Given the description of an element on the screen output the (x, y) to click on. 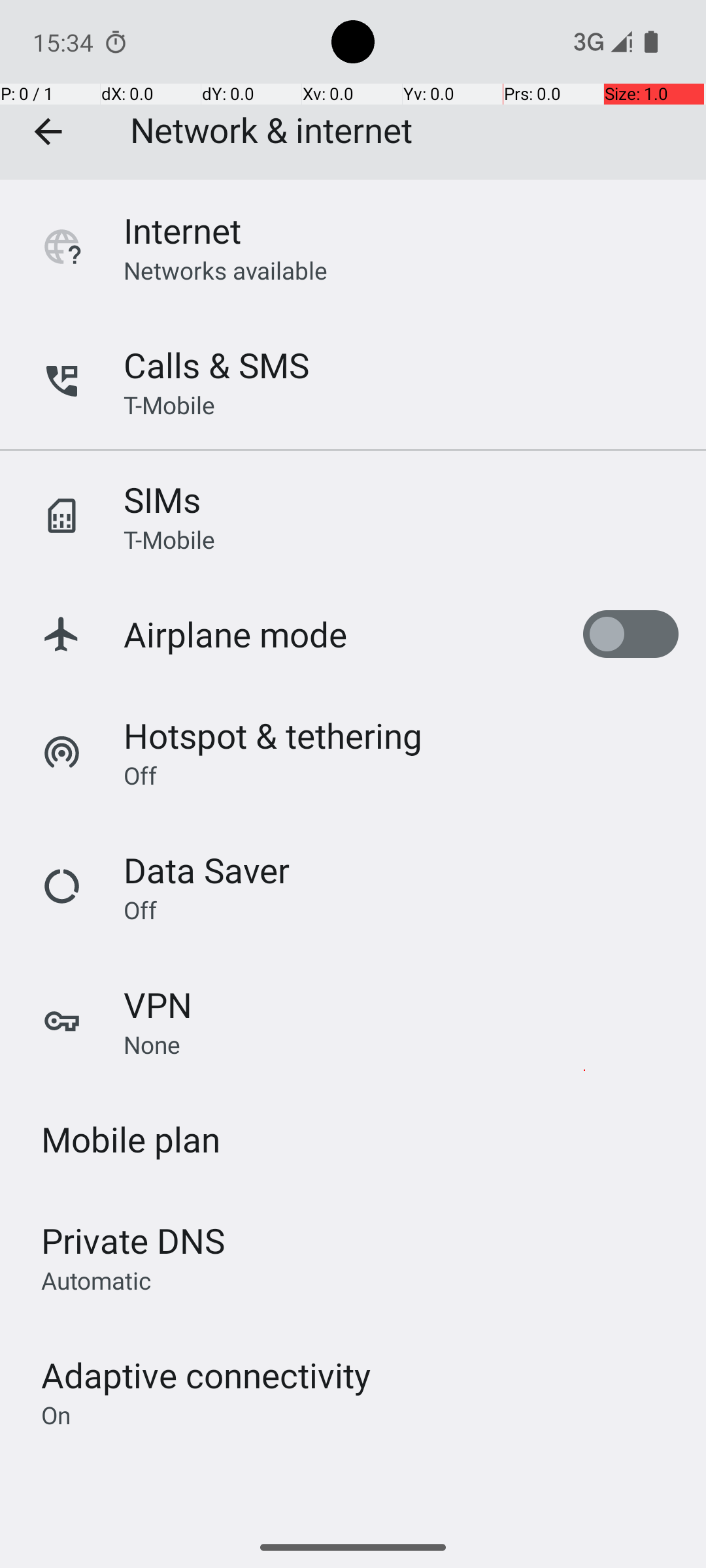
Adaptive connectivity Element type: android.widget.TextView (205, 1374)
